Given the description of an element on the screen output the (x, y) to click on. 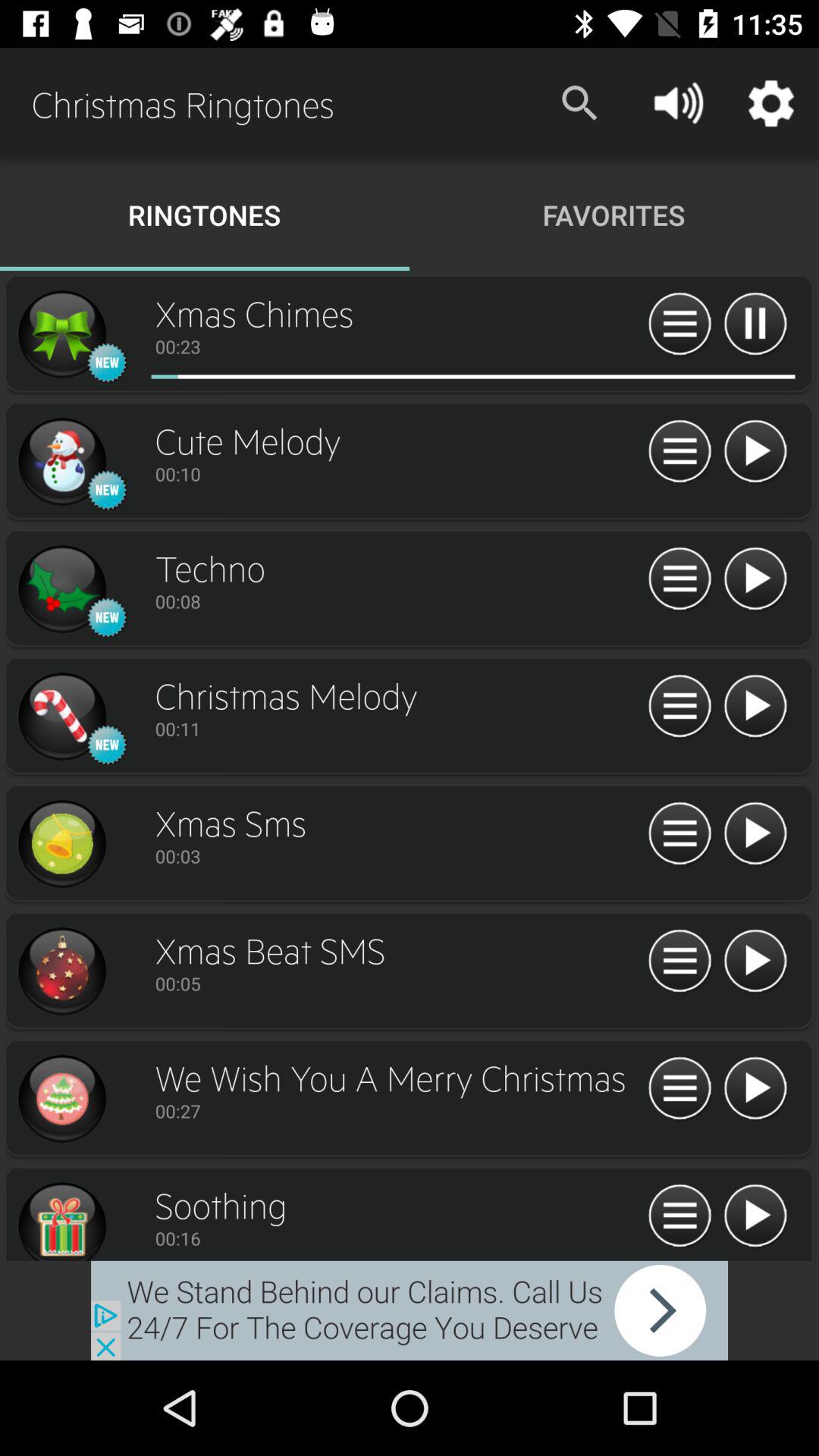
shooting setting (679, 1216)
